Given the description of an element on the screen output the (x, y) to click on. 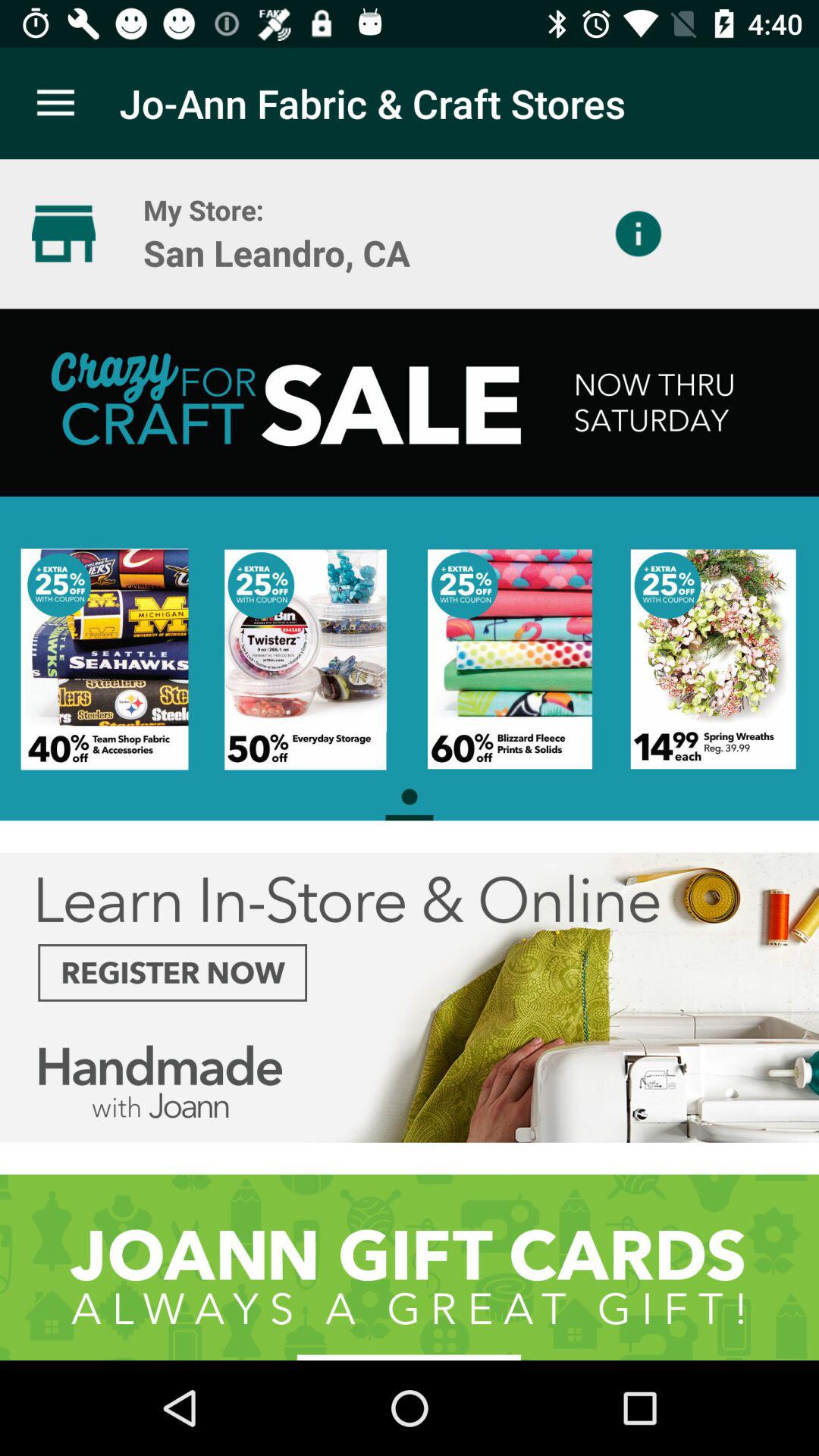
turn on the icon next to jo ann fabric (55, 103)
